Given the description of an element on the screen output the (x, y) to click on. 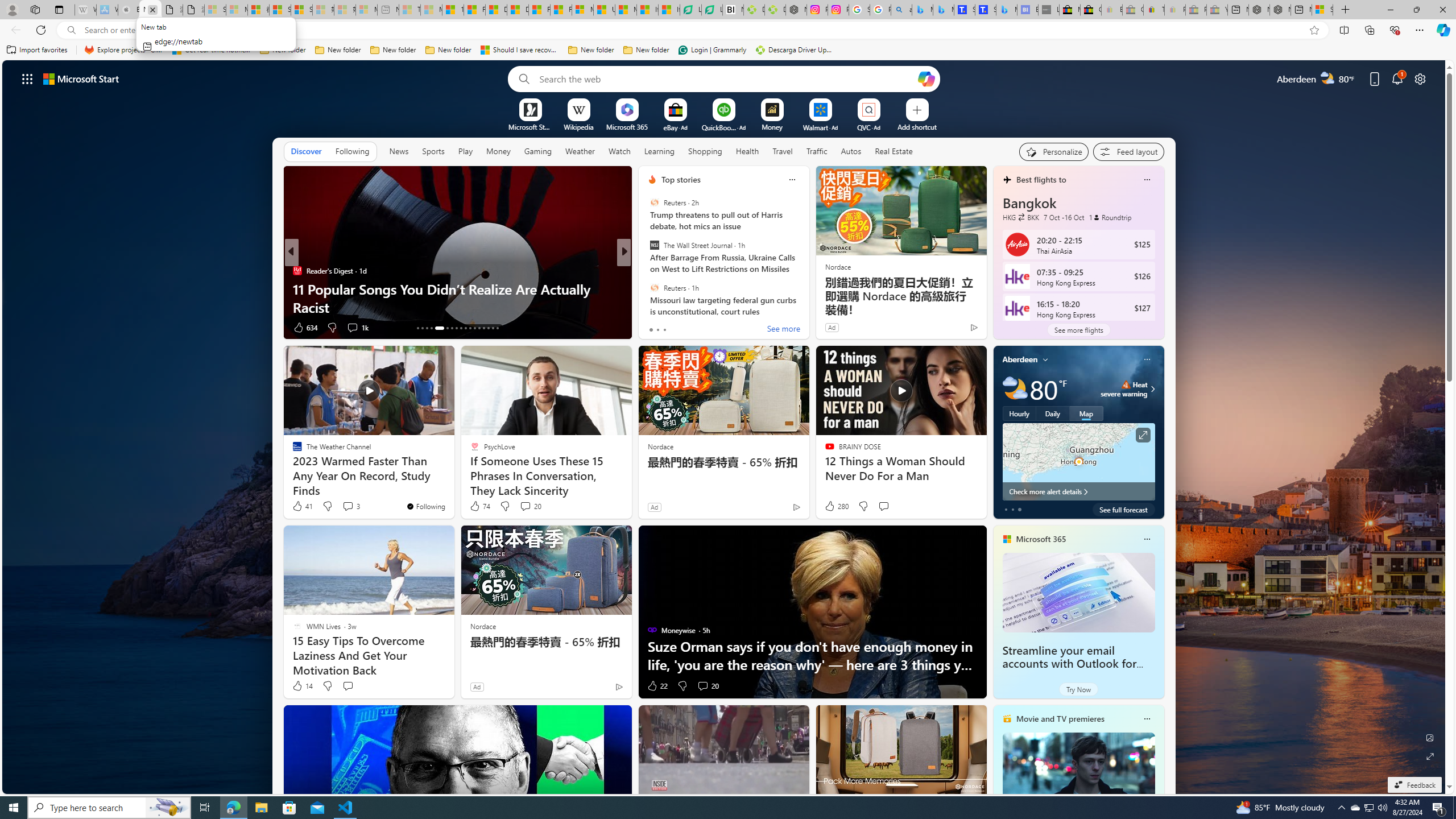
41 Like (301, 505)
280 Like (835, 505)
Payments Terms of Use | eBay.com - Sleeping (1174, 9)
Nordace - Nordace Edin Collection (795, 9)
AutomationID: tab-23 (470, 328)
Daily (1052, 413)
Safety in Our Products - Google Safety Center (859, 9)
